Given the description of an element on the screen output the (x, y) to click on. 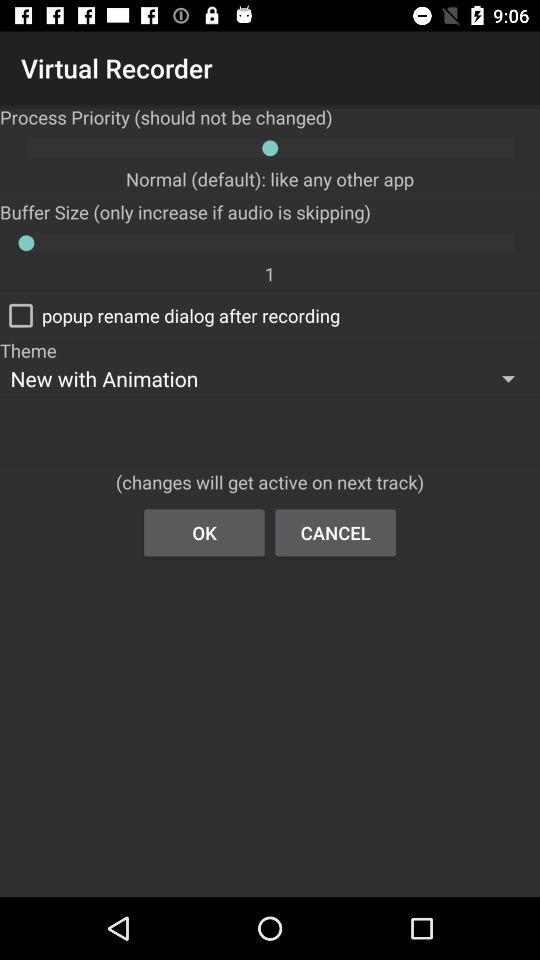
swipe to the popup rename dialog icon (170, 315)
